Given the description of an element on the screen output the (x, y) to click on. 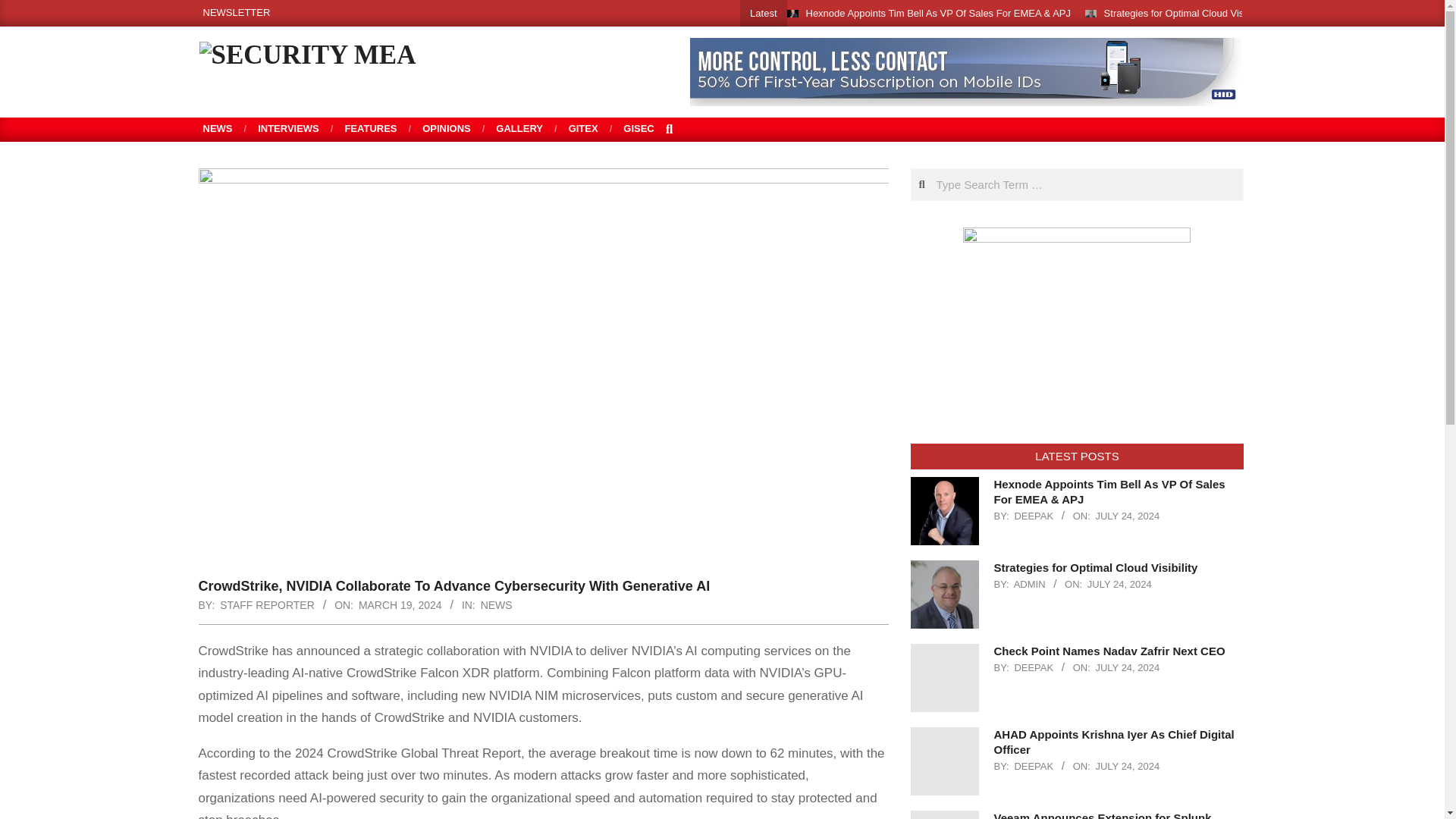
GISEC (638, 128)
Wednesday, July 24, 2024, 5:17 pm (1126, 515)
NEWS (496, 604)
Wednesday, July 24, 2024, 5:14 pm (1119, 583)
INTERVIEWS (287, 128)
Posts by admin (1029, 583)
Search (24, 9)
OPINIONS (446, 128)
GITEX (583, 128)
Posts by Deepak (1032, 766)
Posts by Deepak (1032, 667)
Tuesday, March 19, 2024, 3:22 pm (400, 604)
Posts by Deepak (1032, 515)
Strategies for Optimal Cloud Visibility (1184, 12)
NEWS (217, 128)
